Given the description of an element on the screen output the (x, y) to click on. 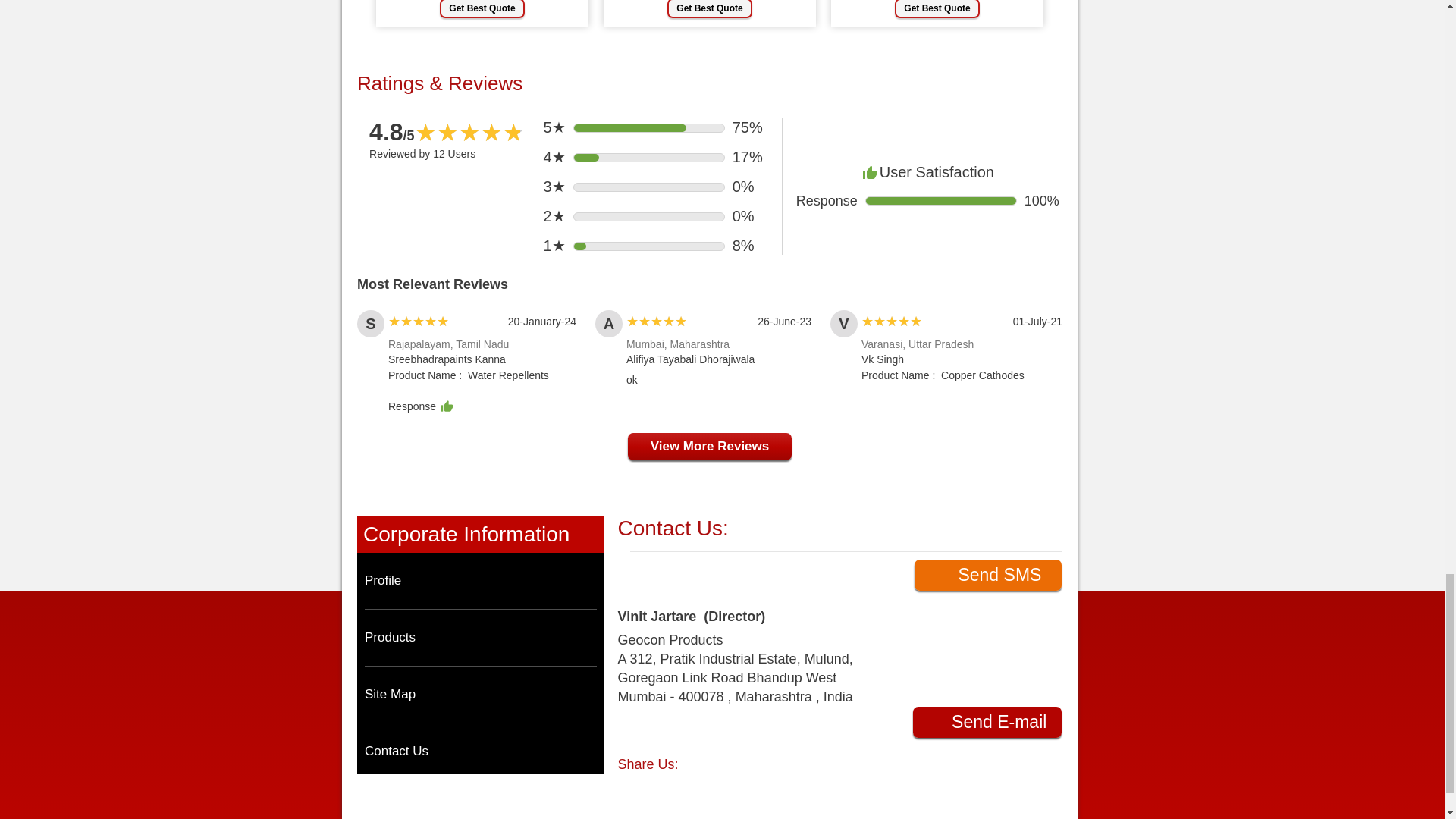
Send SMS Free (987, 574)
4.8 out of 5 Votes (391, 131)
